Given the description of an element on the screen output the (x, y) to click on. 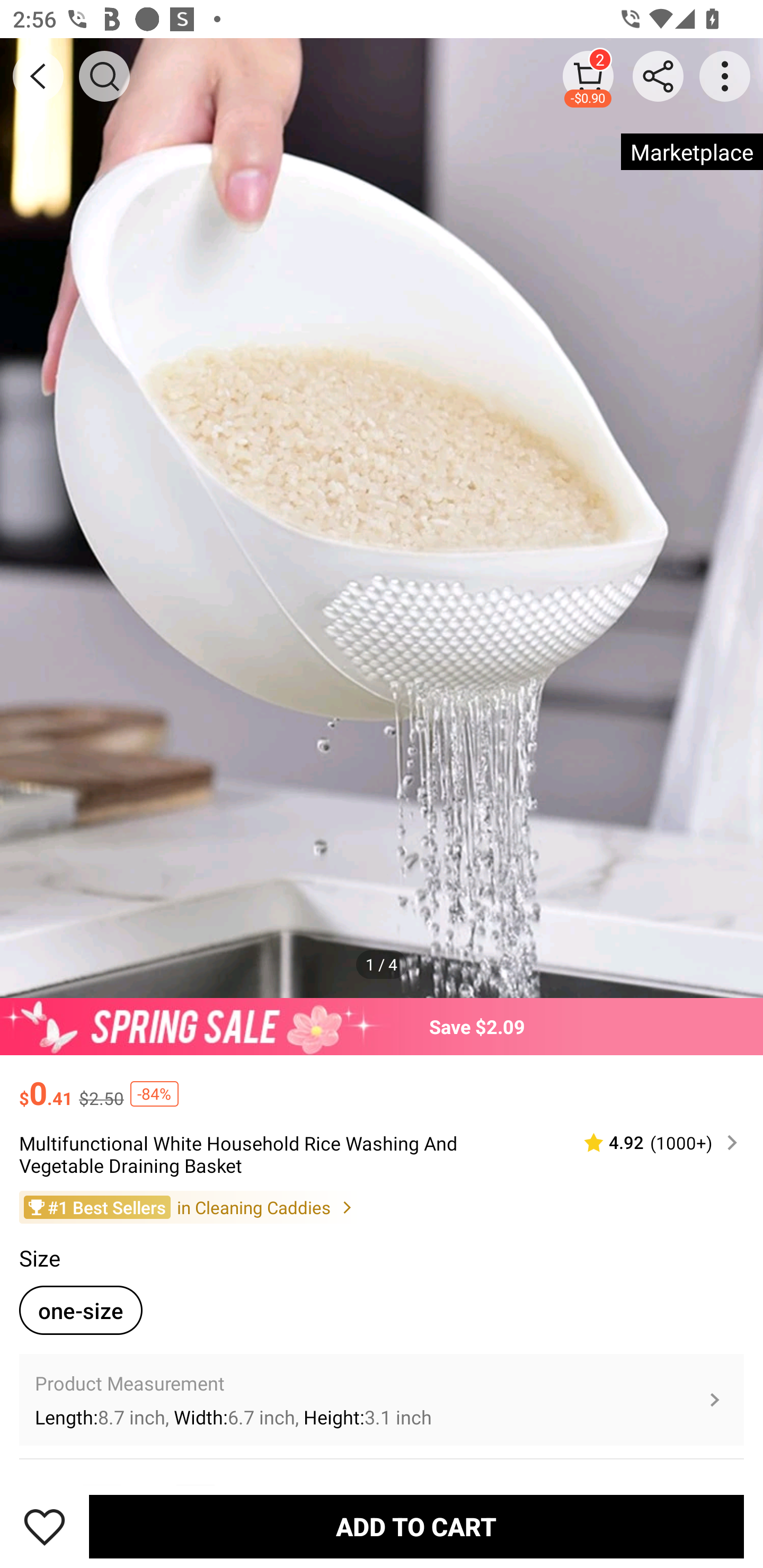
BACK (38, 75)
2 -$0.90 (588, 75)
1 / 4 (381, 964)
Save $2.09 (381, 1026)
$0.41 $2.50 -84% (381, 1084)
4.92 (1000‎+) (653, 1142)
#1 Best Sellers in Cleaning Caddies (381, 1206)
Size (39, 1258)
one-size one-sizeselected option (80, 1309)
ADD TO CART (416, 1526)
Save (44, 1526)
